Given the description of an element on the screen output the (x, y) to click on. 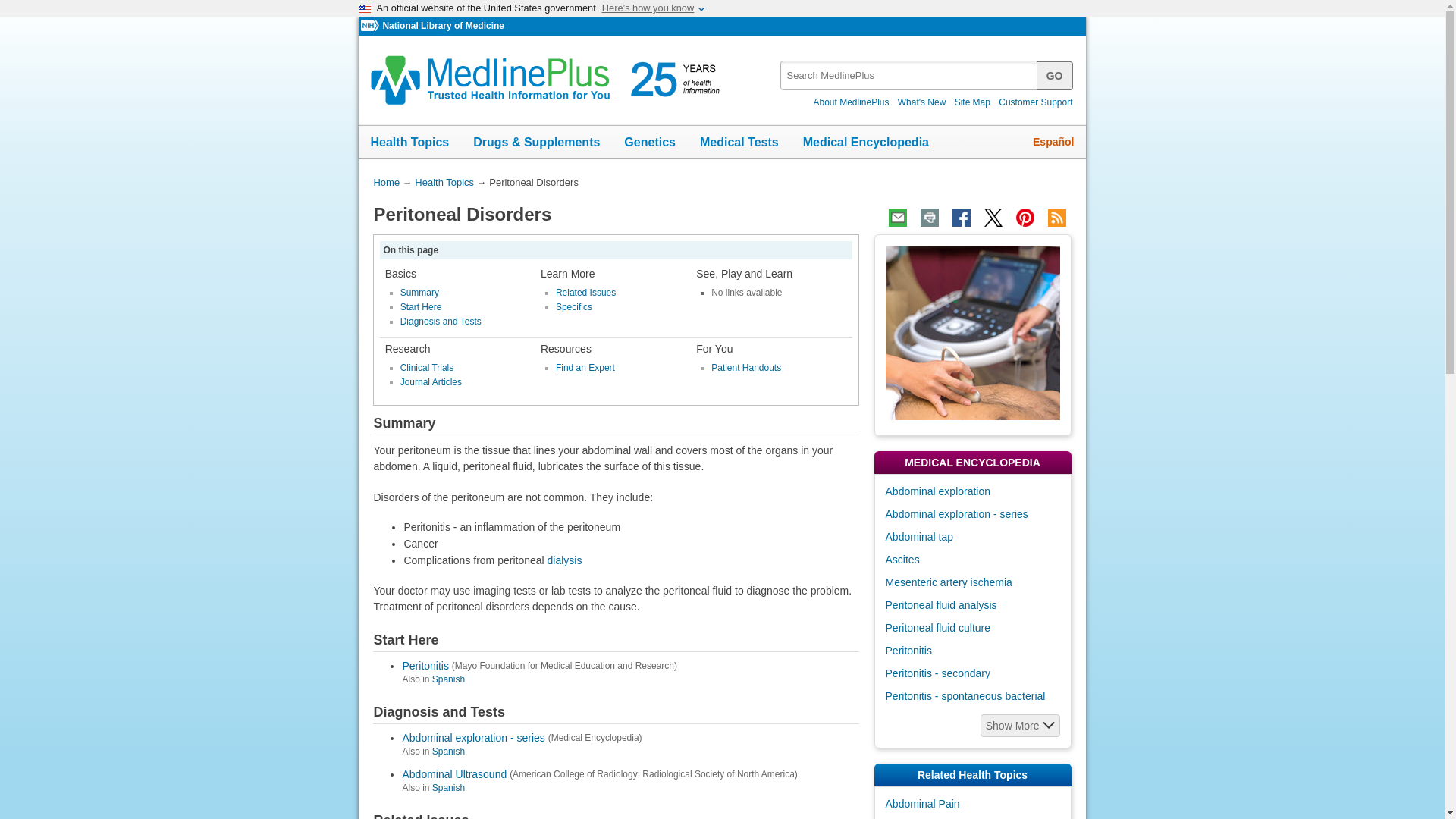
Health Topics (409, 142)
Summary (419, 292)
National Library of Medicine (442, 26)
National Institutes of Health (371, 26)
Go to: Summary (419, 292)
Site Search input (909, 75)
Email this page to a friend (897, 217)
Diagnosis and Tests (440, 321)
Pinterest (1024, 217)
Search MedlinePlus (1054, 74)
X (992, 217)
Home (385, 182)
Related Issues (585, 292)
Medical Tests (738, 142)
